Given the description of an element on the screen output the (x, y) to click on. 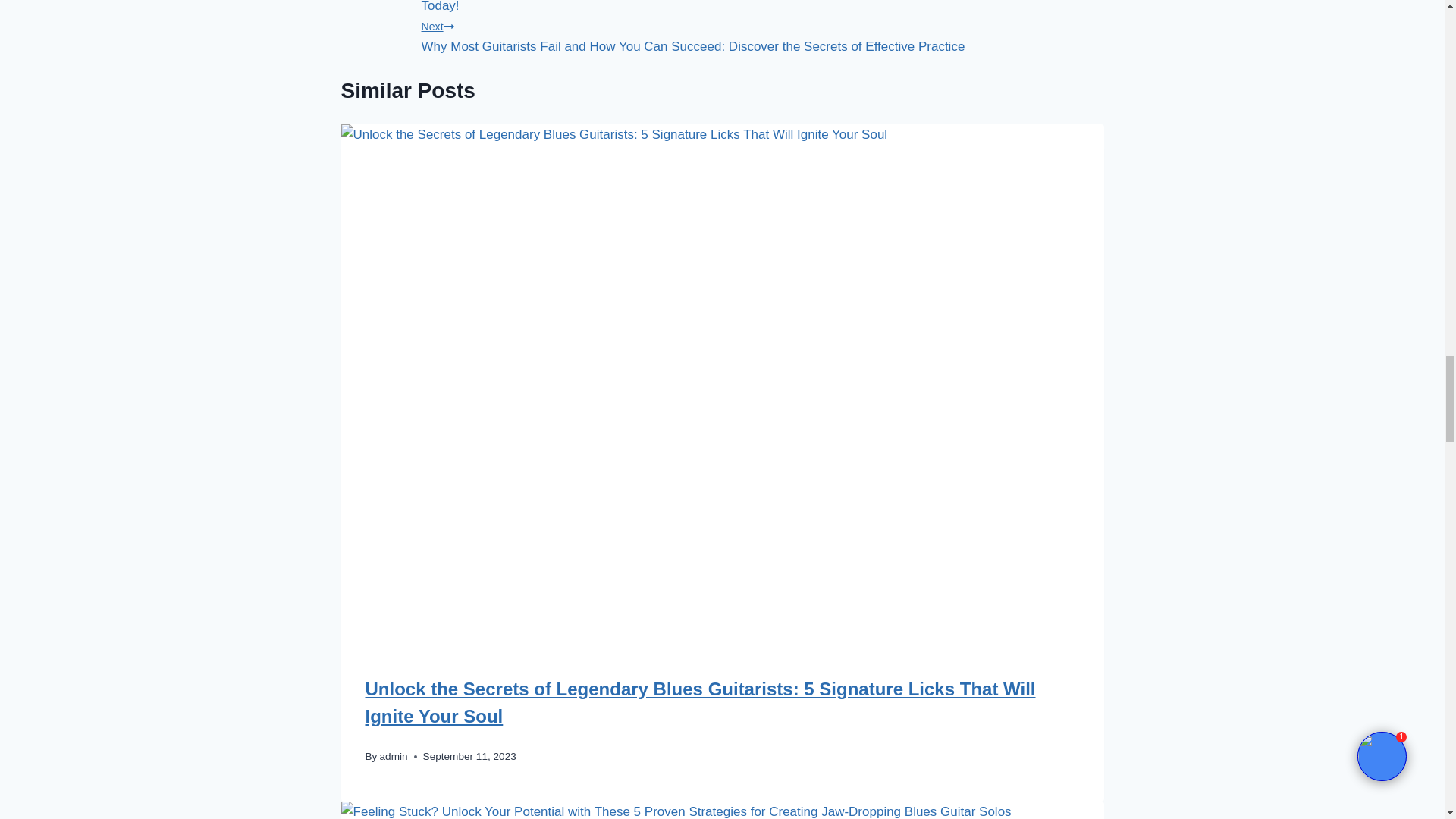
admin (393, 756)
